Given the description of an element on the screen output the (x, y) to click on. 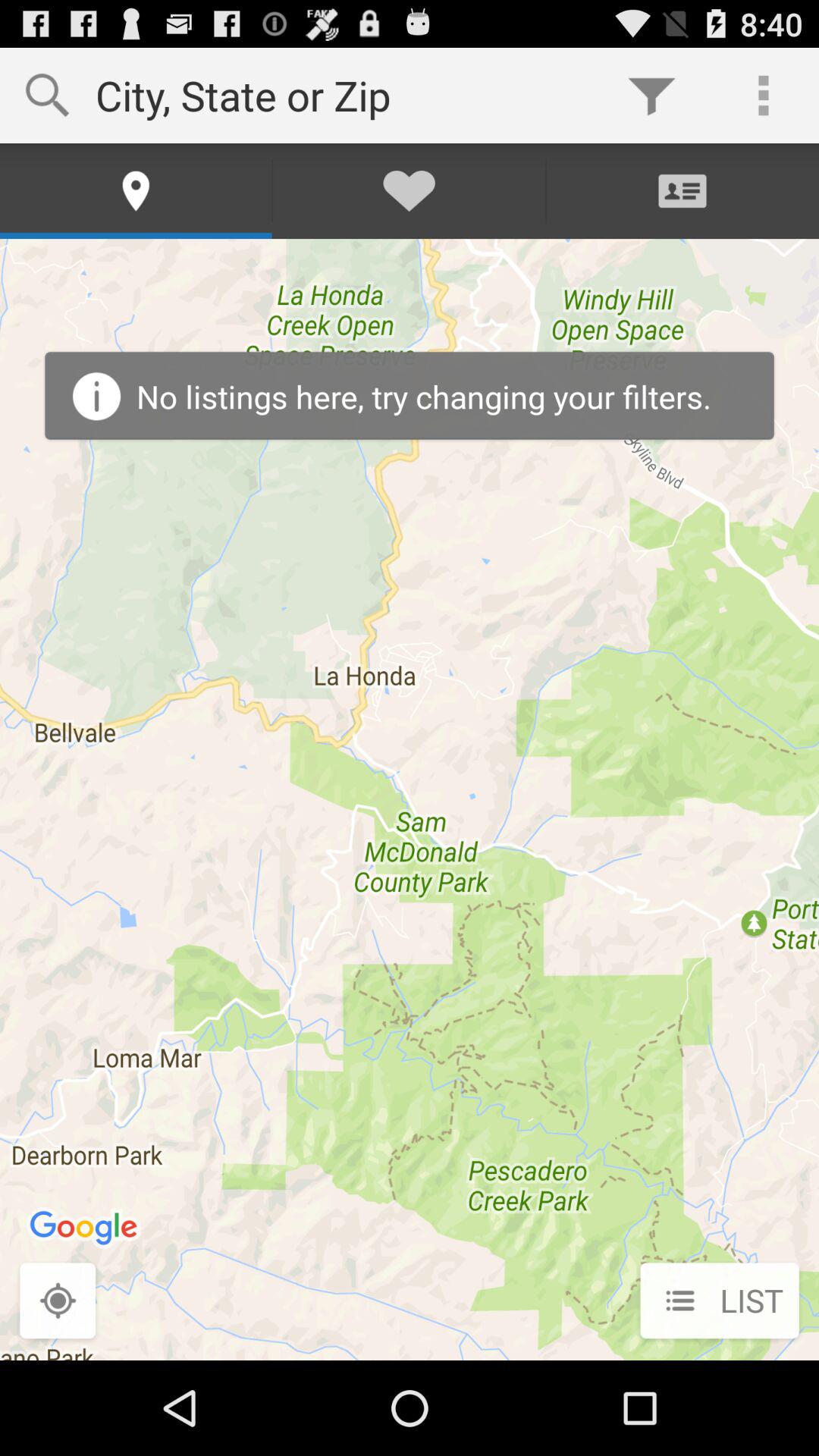
press the icon to the left of the list icon (57, 1302)
